Given the description of an element on the screen output the (x, y) to click on. 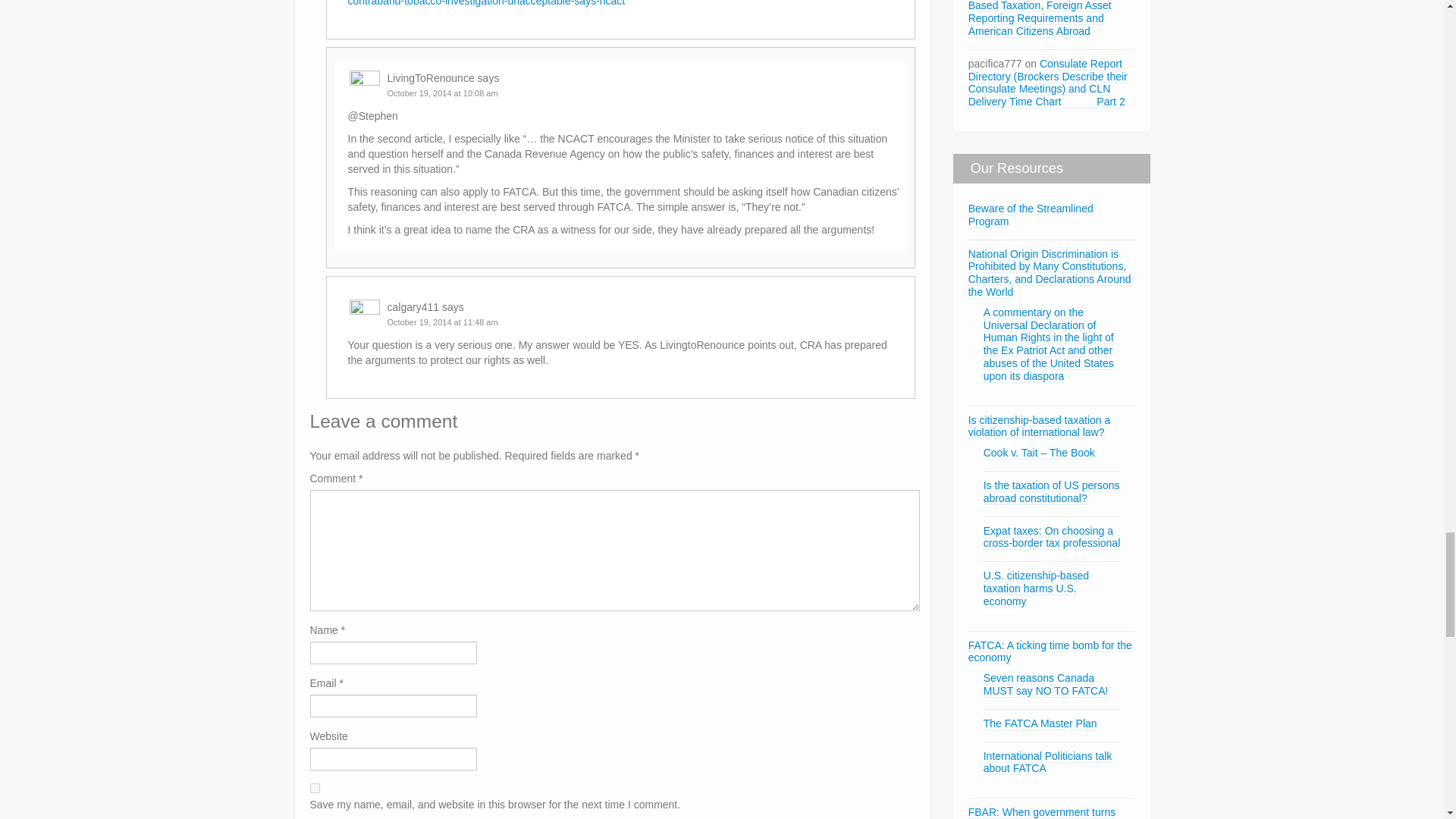
yes (313, 787)
